Given the description of an element on the screen output the (x, y) to click on. 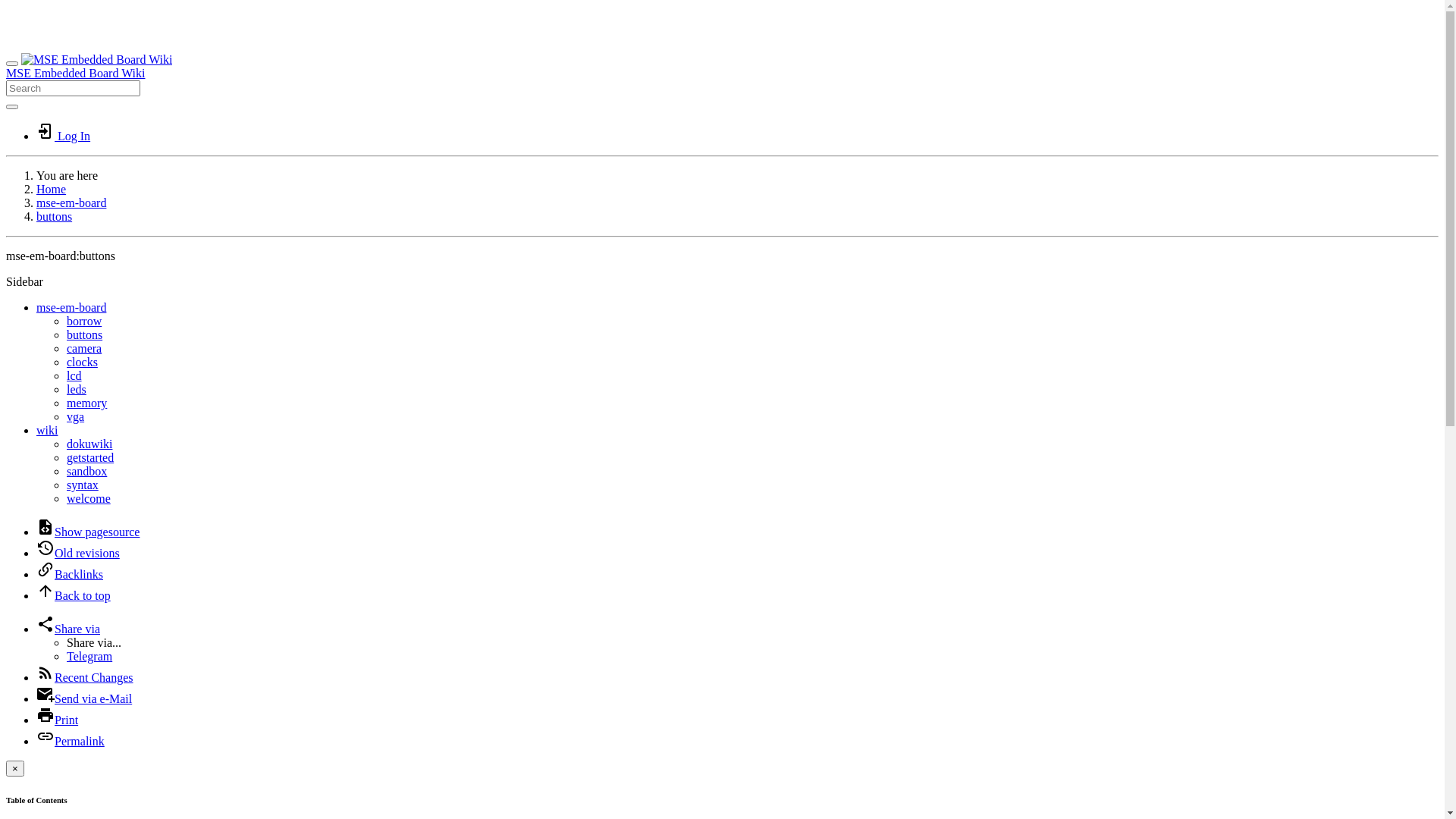
Telegram Element type: text (89, 655)
Backlinks Element type: text (69, 573)
memory Element type: text (86, 402)
borrow Element type: text (83, 320)
mse-em-board Element type: text (71, 202)
lcd Element type: text (73, 375)
Send via e-Mail Element type: text (83, 698)
buttons Element type: text (84, 334)
Old revisions Element type: text (77, 552)
sandbox Element type: text (86, 470)
leds Element type: text (76, 388)
vga Element type: text (75, 416)
Print Element type: text (57, 719)
dokuwiki Element type: text (89, 443)
camera Element type: text (83, 348)
Back to top Element type: text (73, 595)
Recent Changes Element type: text (84, 677)
mse-em-board Element type: text (71, 307)
clocks Element type: text (81, 361)
Show pagesource Element type: text (87, 531)
Permalink Element type: text (70, 740)
[F] Element type: hover (73, 88)
Log In Element type: text (63, 135)
Home Element type: text (50, 188)
getstarted Element type: text (89, 457)
Search Element type: hover (12, 106)
wiki Element type: text (46, 429)
syntax Element type: text (82, 484)
Share via Element type: text (68, 628)
welcome Element type: text (88, 498)
buttons Element type: text (54, 216)
MSE Embedded Board Wiki Element type: text (722, 66)
